Given the description of an element on the screen output the (x, y) to click on. 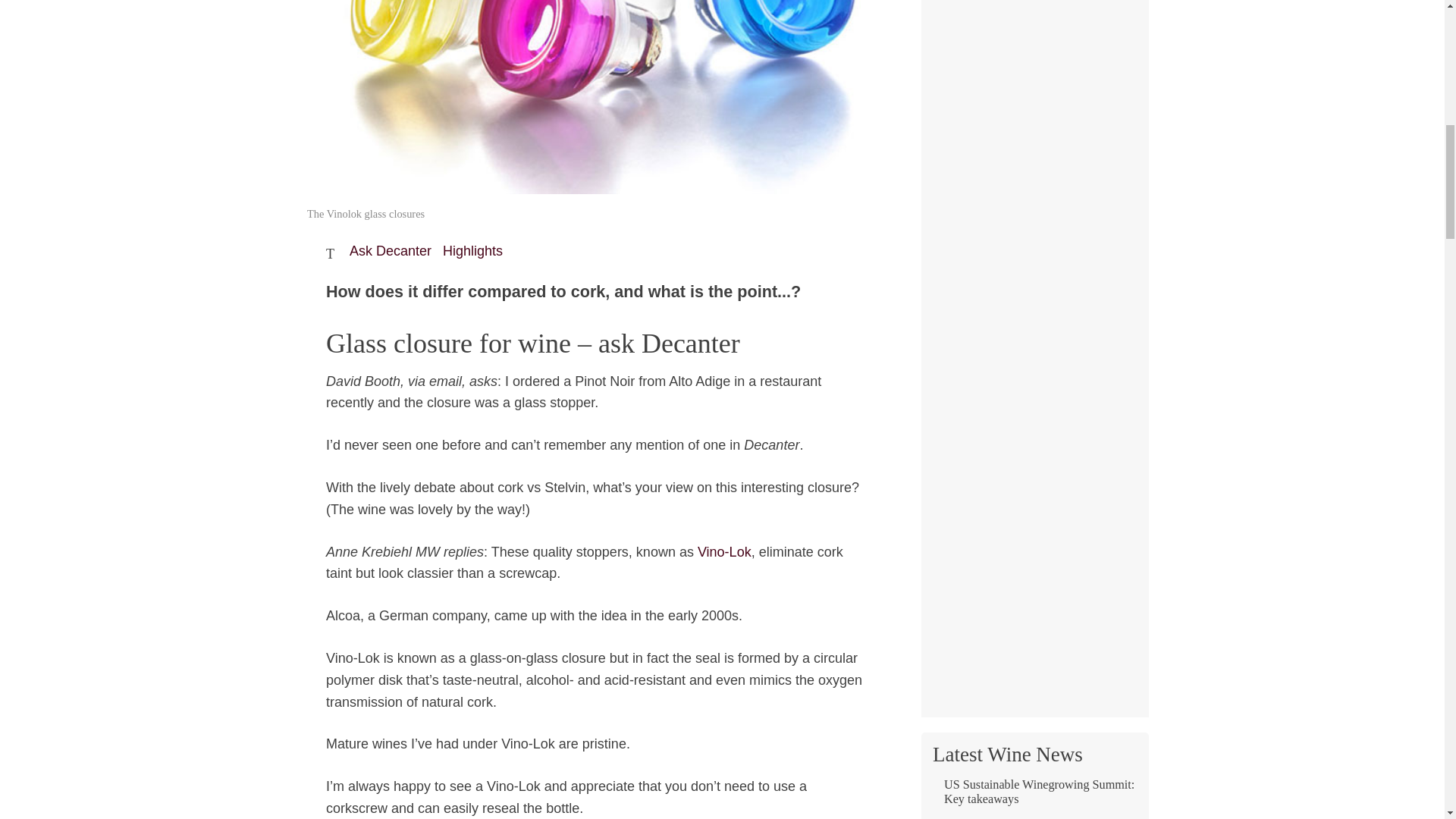
US Sustainable Winegrowing Summit: Key takeaways (1035, 798)
Advertisement (1034, 140)
